Given the description of an element on the screen output the (x, y) to click on. 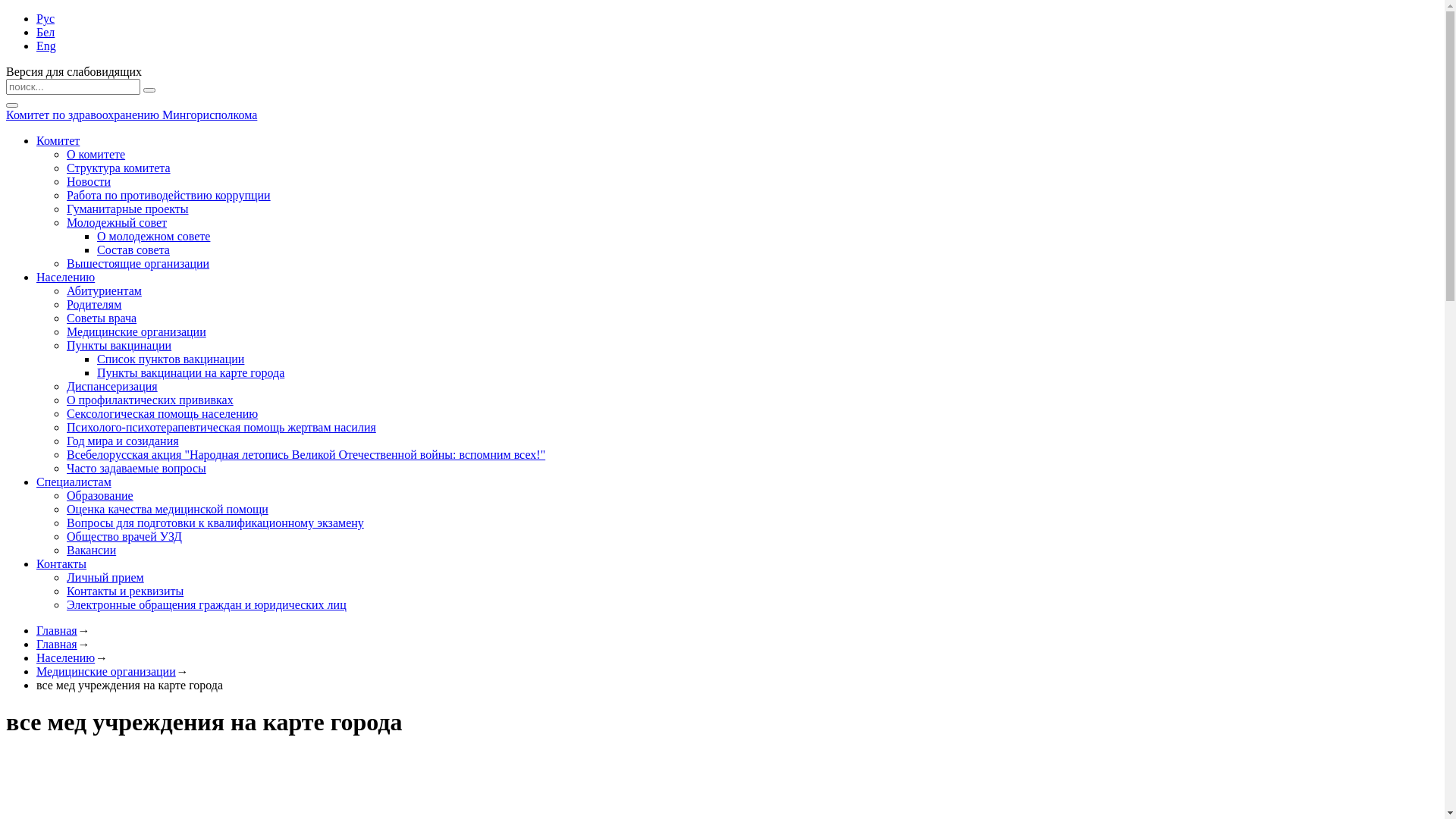
Eng Element type: text (46, 45)
